Given the description of an element on the screen output the (x, y) to click on. 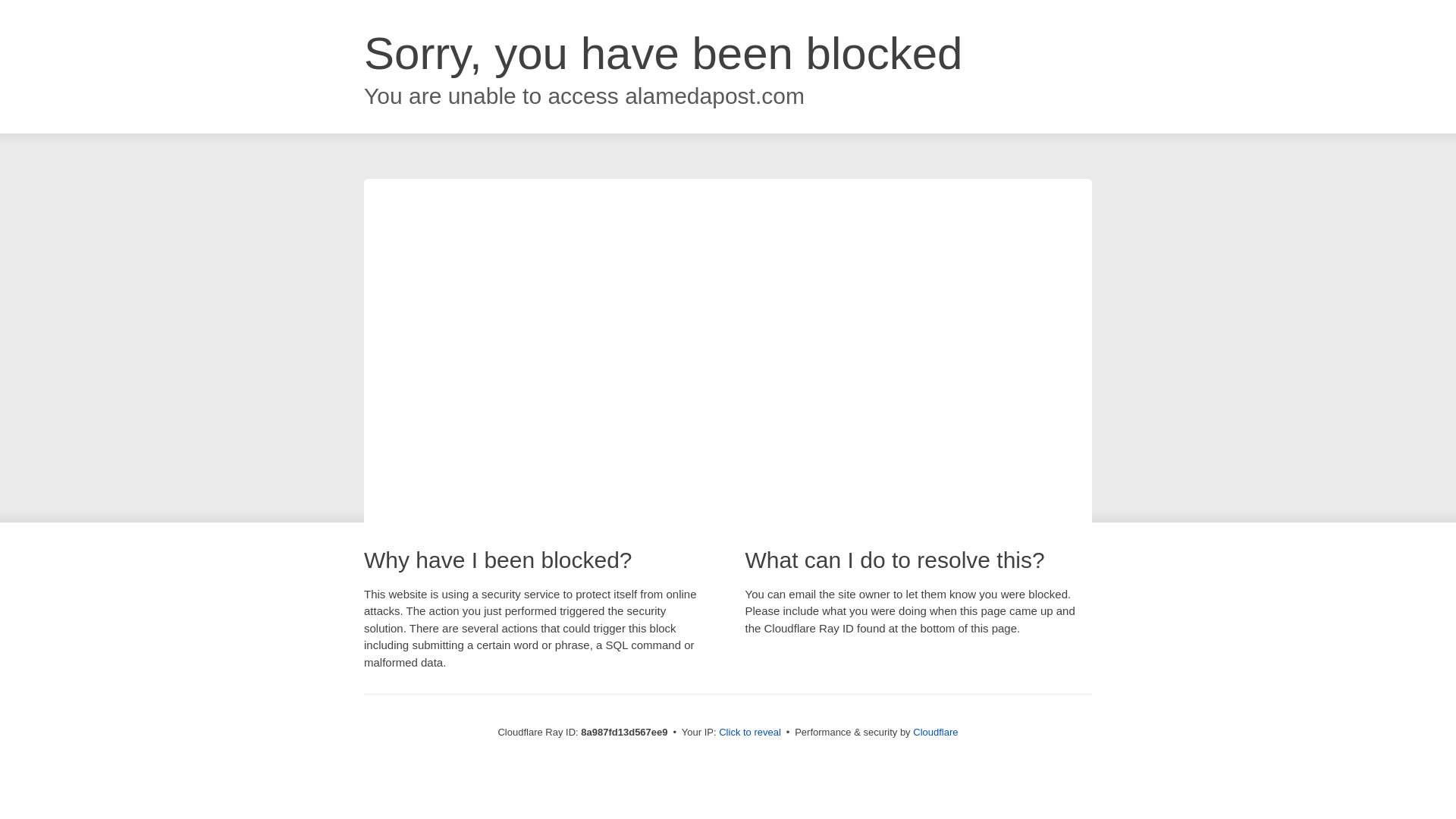
Click to reveal (749, 732)
Cloudflare (935, 731)
